Given the description of an element on the screen output the (x, y) to click on. 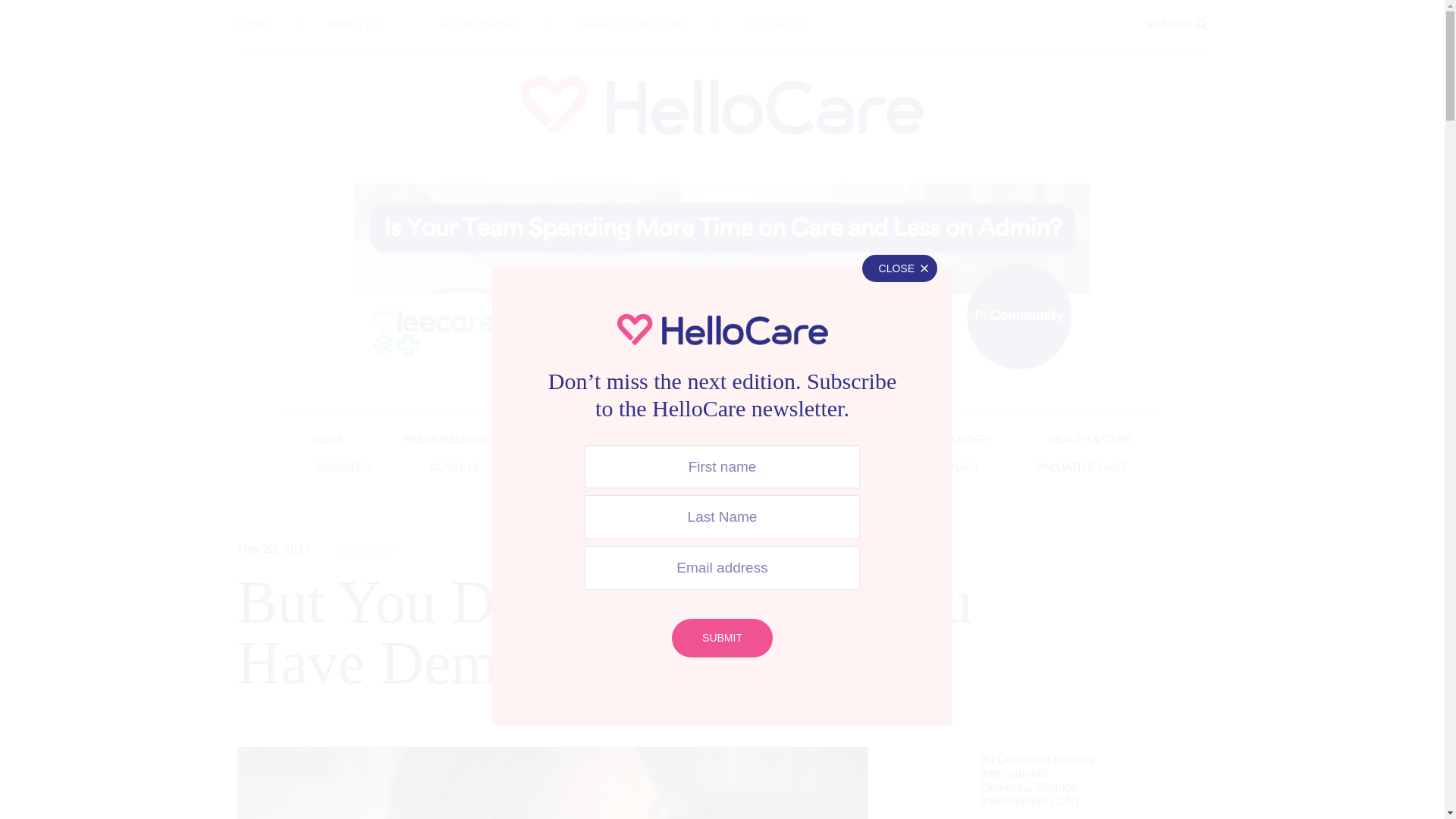
ABOUT US (354, 24)
ADVERTISE (775, 24)
EDUCATION (721, 13)
Submit (722, 638)
SHARE YOUR STORY (632, 24)
SOCIAL IMPACT (480, 24)
HOME (251, 24)
SEARCH (1176, 24)
